Given the description of an element on the screen output the (x, y) to click on. 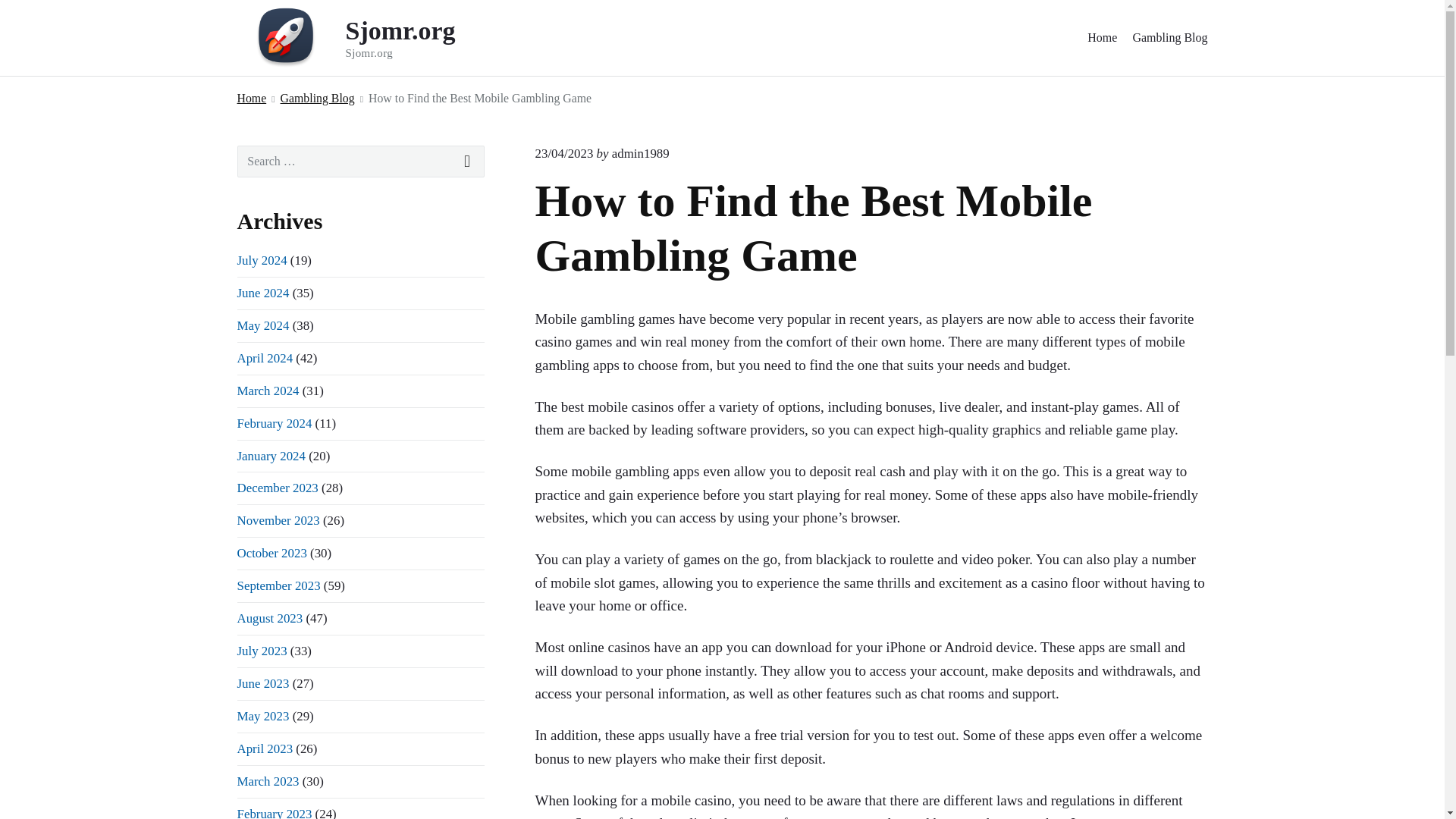
February 2024 (273, 423)
admin1989 (640, 153)
June 2023 (261, 683)
March 2023 (365, 38)
April 2024 (266, 780)
April 2023 (263, 358)
Gambling Blog (263, 748)
Sunday, April 23, 2023, 11:19 am (1169, 37)
Home (564, 153)
October 2023 (250, 97)
July 2023 (270, 553)
Home (260, 650)
Posts by admin1989 (1101, 37)
March 2024 (640, 153)
